Given the description of an element on the screen output the (x, y) to click on. 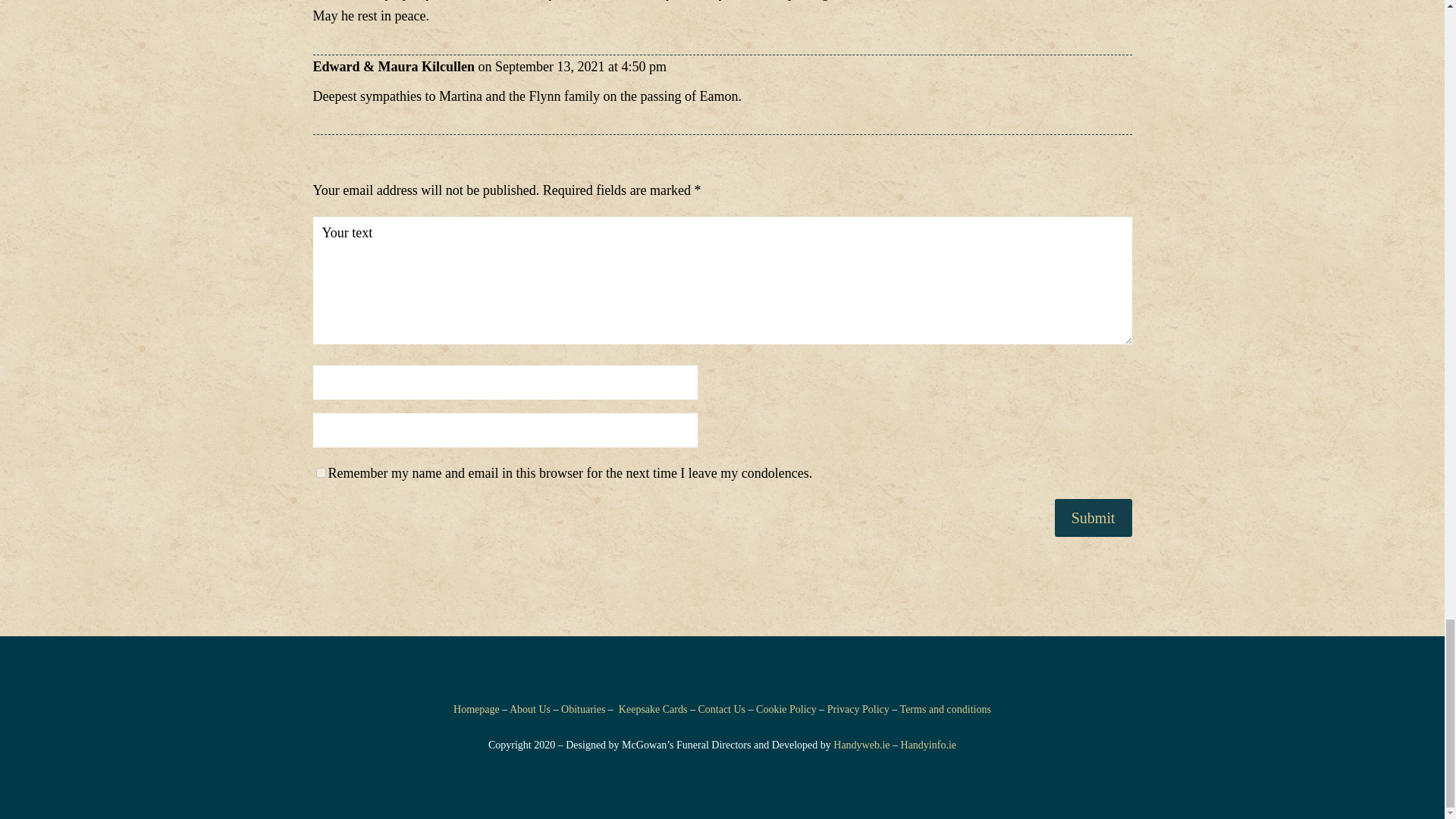
Handyinfo.ie (928, 745)
Submit (1093, 517)
yes (319, 472)
Keepsake Cards (652, 708)
Homepage (475, 708)
Contact Us (721, 708)
Handyweb.ie (860, 745)
About Us (529, 708)
Web Design by Handyweb (860, 745)
Terms and conditions (945, 708)
Privacy Policy (858, 708)
Cookie Policy (785, 708)
Obituaries (582, 708)
